Given the description of an element on the screen output the (x, y) to click on. 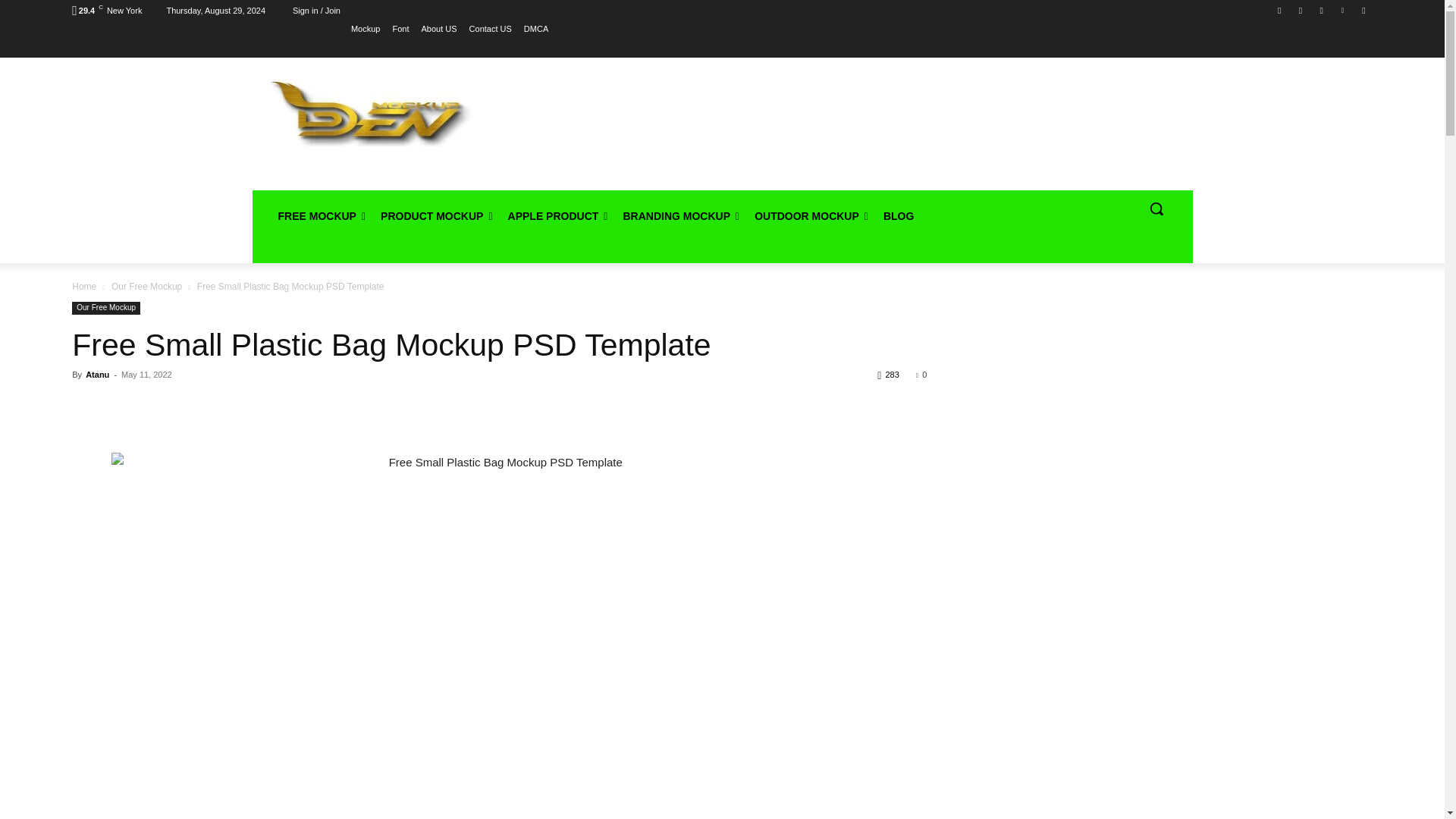
About US (439, 28)
Vimeo (1342, 9)
FREE MOCKUP (320, 215)
Youtube (1364, 9)
Facebook (1279, 9)
View all posts in Our Free Mockup (147, 286)
Instagram (1300, 9)
DMCA (536, 28)
Contact US (490, 28)
Twitter (1321, 9)
